Given the description of an element on the screen output the (x, y) to click on. 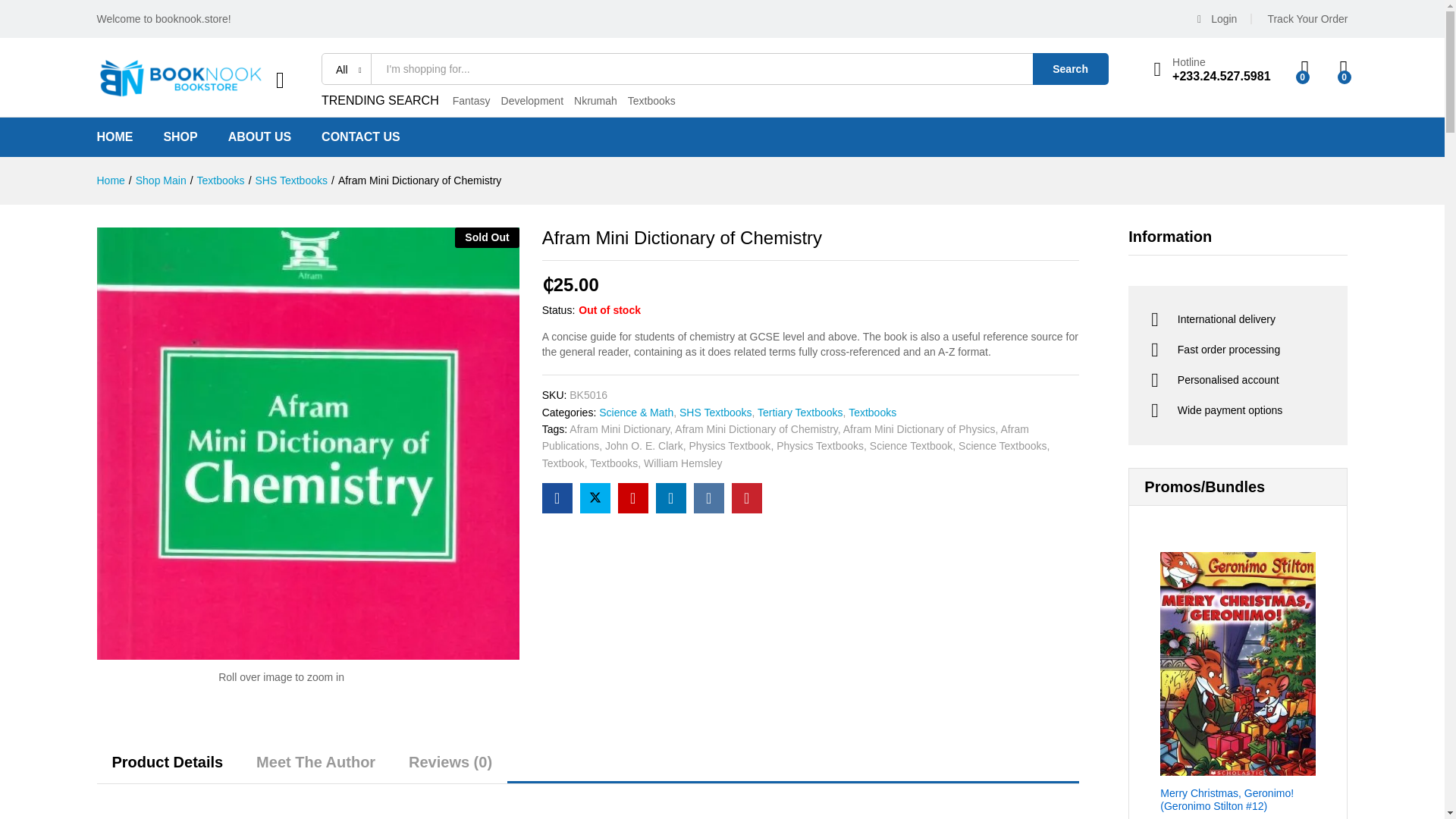
Afram Mini Dictionary of Chemistry (556, 498)
SHOP (179, 137)
Track Your Order (1307, 19)
Nkrumah (595, 101)
Development (532, 101)
Afram Mini Dictionary of Chemistry (632, 498)
Textbooks (651, 101)
Search (1070, 69)
ABOUT US (260, 137)
Login (1223, 18)
Fantasy (471, 101)
HOME (115, 137)
